Given the description of an element on the screen output the (x, y) to click on. 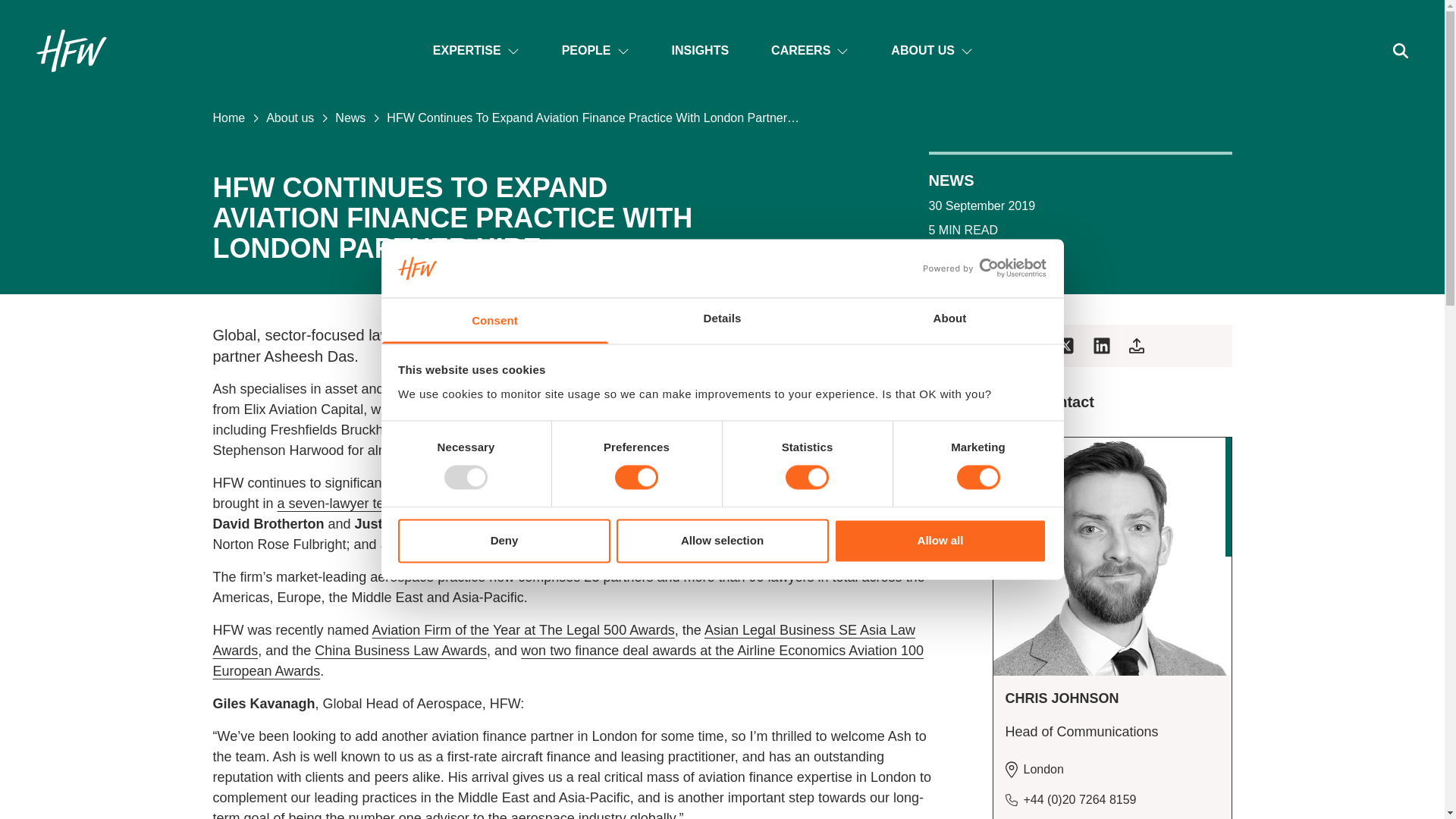
Consent (494, 320)
Allow selection (721, 540)
Allow all (940, 540)
About (948, 320)
Deny (503, 540)
Details (721, 320)
